Given the description of an element on the screen output the (x, y) to click on. 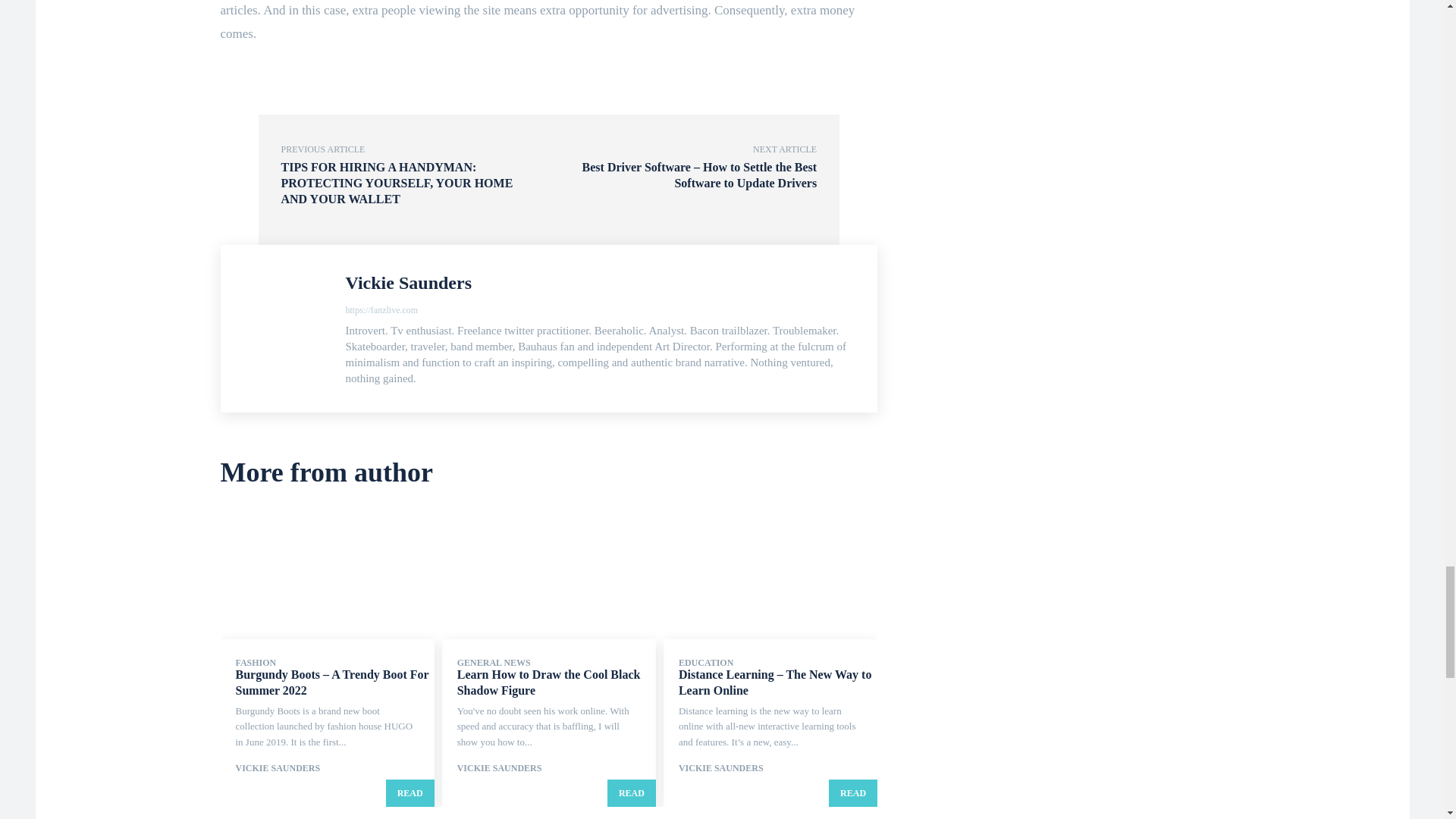
Learn How to Draw the Cool Black Shadow Figure (548, 682)
Learn How to Draw the Cool Black Shadow Figure (549, 575)
